Given the description of an element on the screen output the (x, y) to click on. 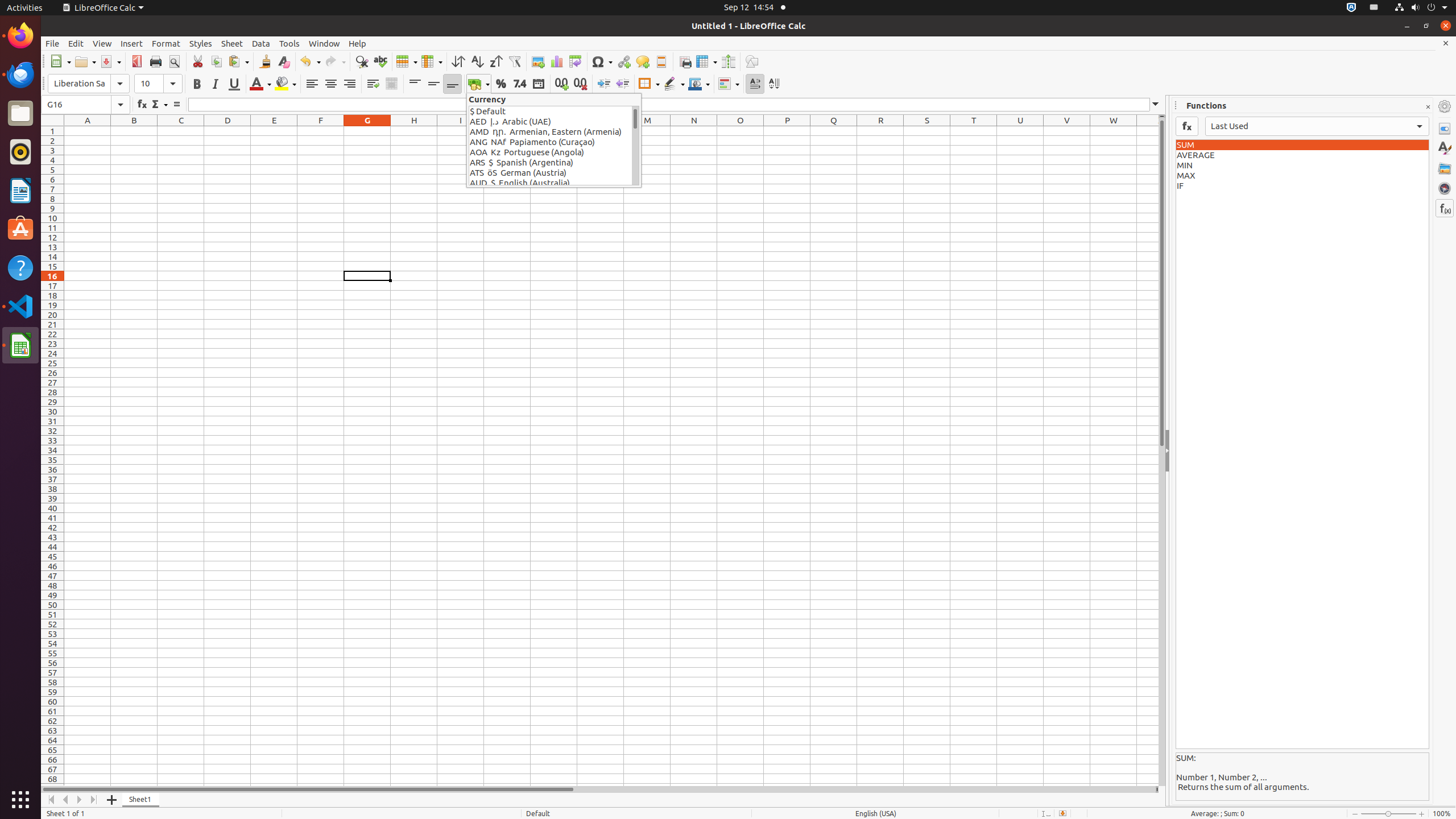
Copy Element type: push-button (216, 61)
T1 Element type: table-cell (973, 130)
‪ANG‬  ‪NAf‬  ‪Papiamento (Curaçao)‬ Element type: list-item (550, 142)
Name Box Element type: combo-box (85, 104)
:1.21/StatusNotifierItem Element type: menu (1373, 7)
